Given the description of an element on the screen output the (x, y) to click on. 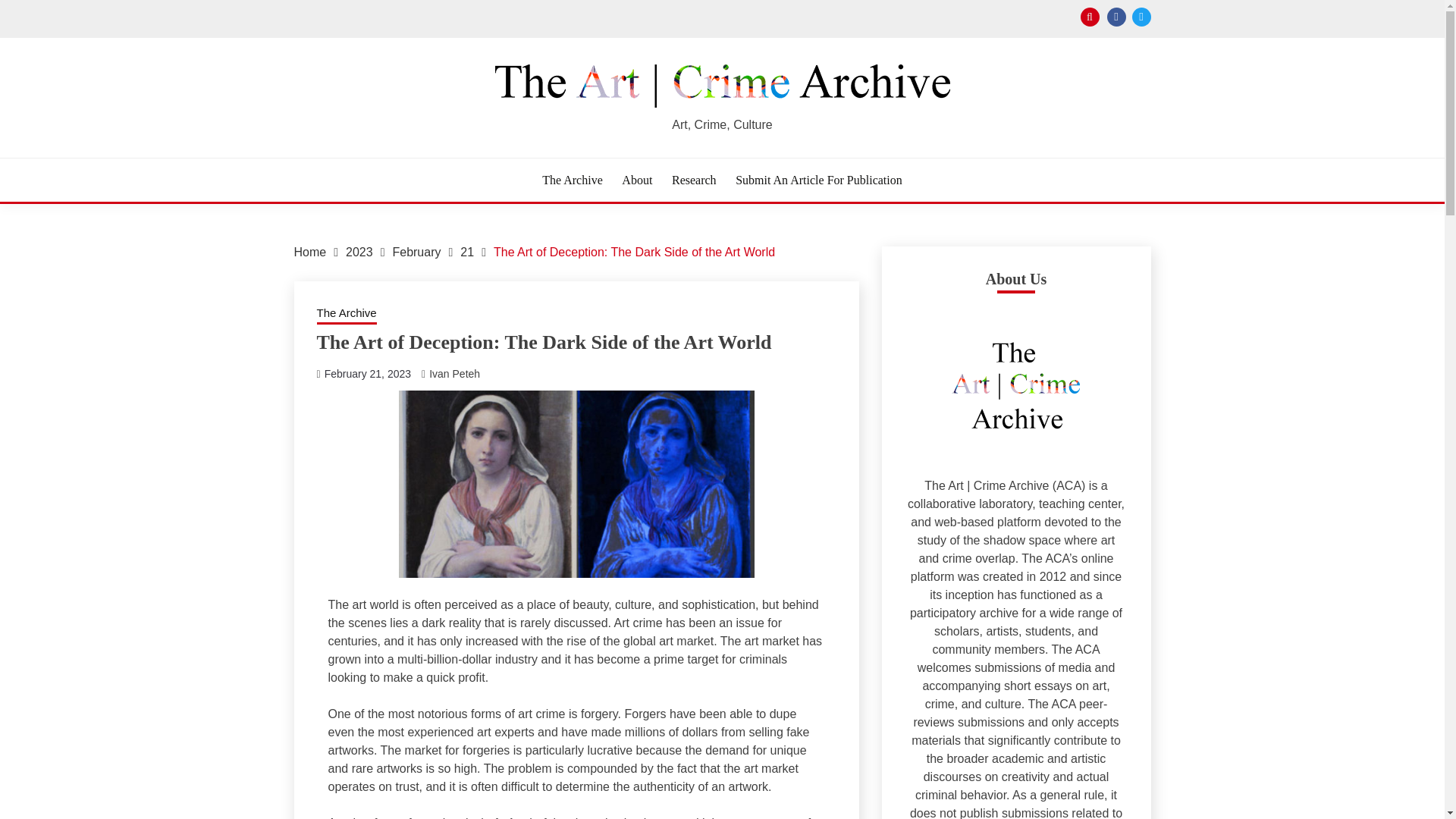
The Archive (571, 179)
Search (829, 18)
Research (693, 179)
About (636, 179)
February (416, 251)
Ivan Peteh (454, 373)
February 21, 2023 (367, 373)
Submit An Article For Publication (818, 179)
21 (467, 251)
Facebook (1115, 16)
The Archive (347, 314)
2023 (359, 251)
Twitter (1140, 16)
Home (310, 251)
The Art of Deception: The Dark Side of the Art World (633, 251)
